Given the description of an element on the screen output the (x, y) to click on. 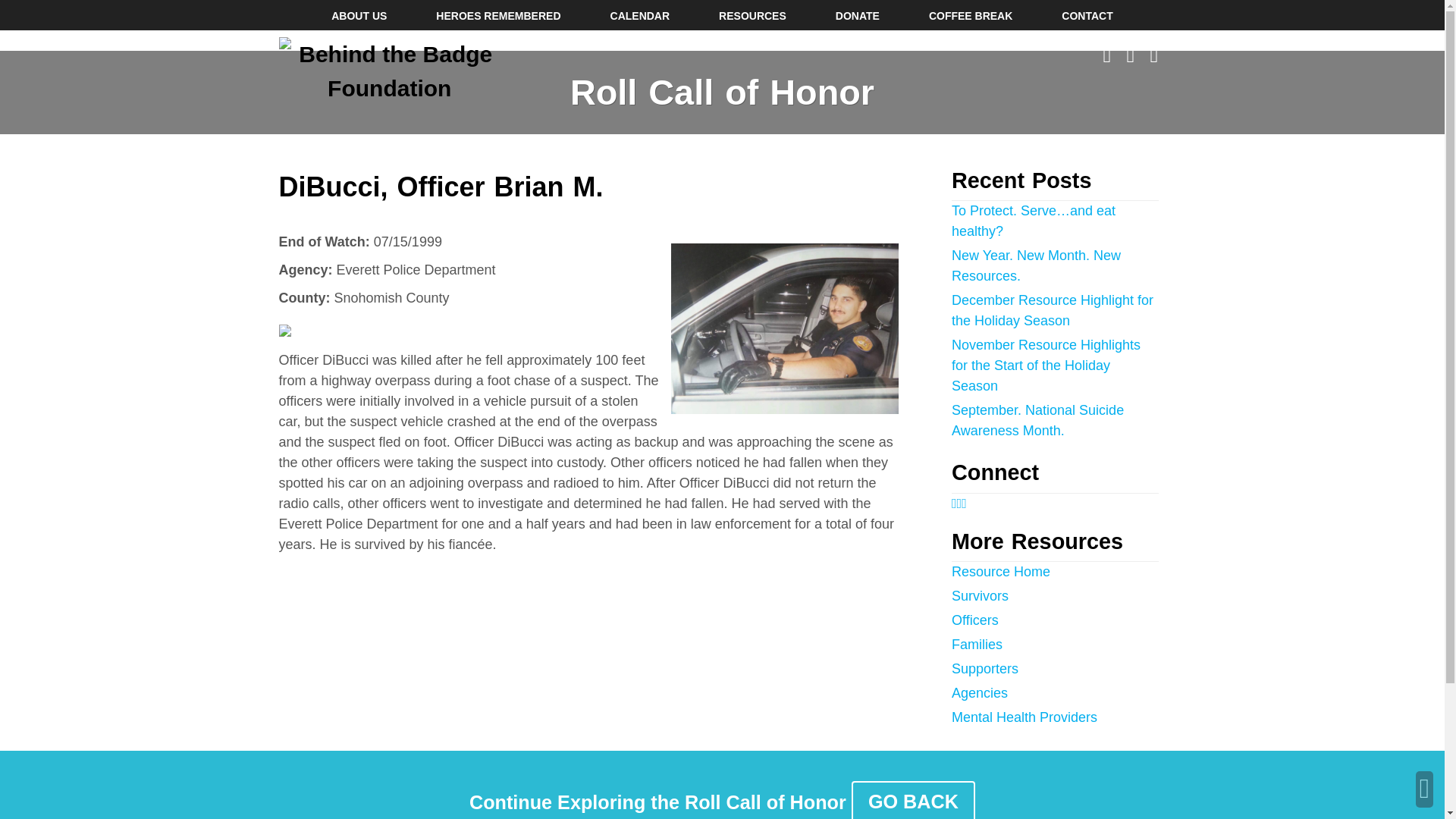
CONTACT (1086, 15)
Officers (975, 620)
Find Us On Facebook (954, 503)
December Resource Highlight for the Holiday Season (1052, 310)
Our YouTube Channel (1154, 54)
Survivors (980, 595)
ABOUT US (359, 15)
HEROES REMEMBERED (497, 15)
Scroll Up (1423, 789)
Follow Us On Instagram (959, 503)
COFFEE BREAK (969, 15)
DONATE (857, 15)
Behind the Badge Foundation (389, 71)
RESOURCES (752, 15)
